Given the description of an element on the screen output the (x, y) to click on. 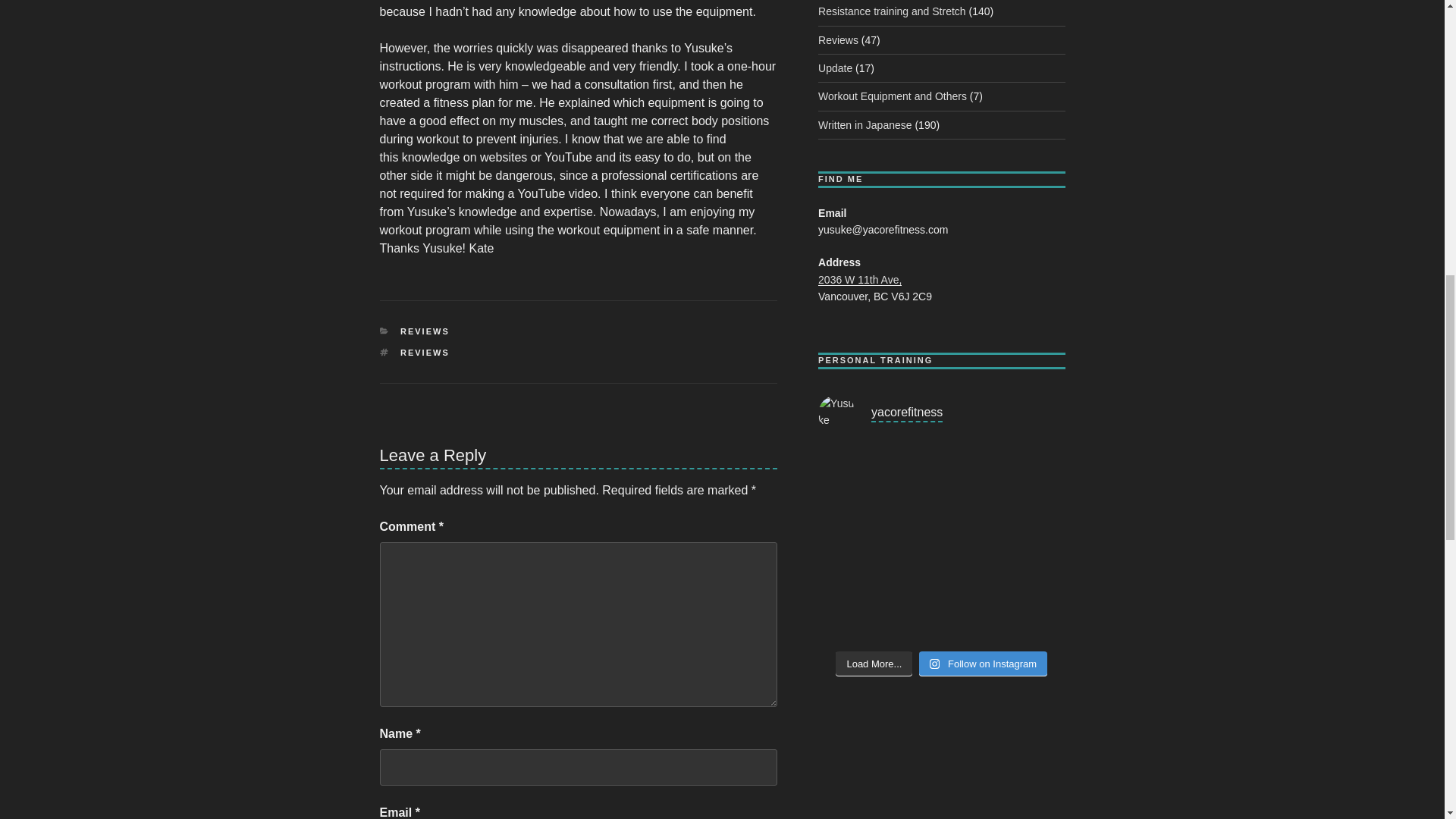
Workout Equipment and Others (892, 96)
Reviews (838, 39)
Resistance training and Stretch (892, 10)
yacorefitness (941, 413)
Written in Japanese (864, 124)
REVIEWS (424, 330)
REVIEWS (424, 352)
Update (834, 68)
2036 W 11th Ave, (859, 279)
